Given the description of an element on the screen output the (x, y) to click on. 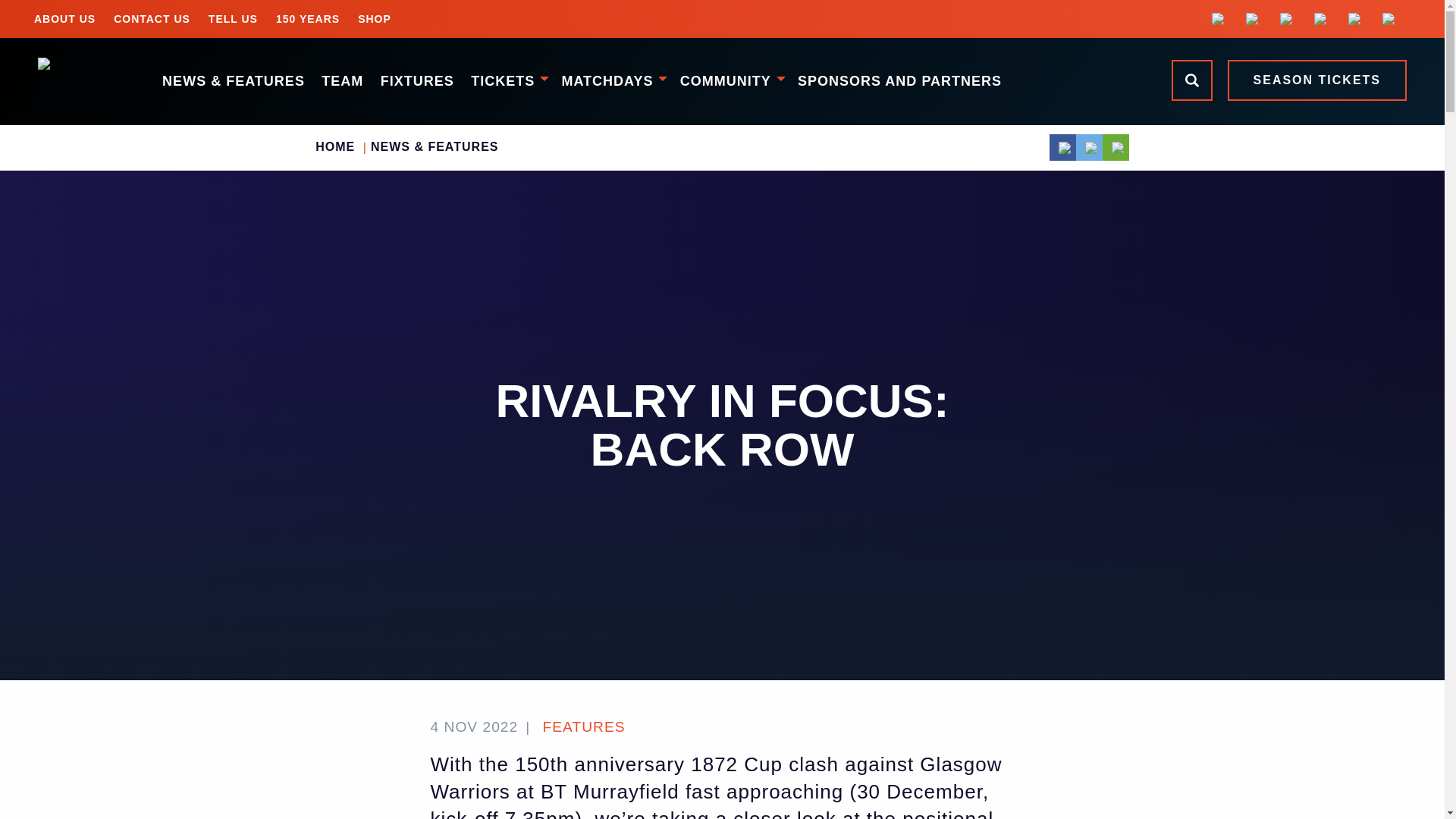
TICKETS (508, 80)
SEASON TICKETS (1316, 79)
TELL US (232, 18)
SHOP (374, 18)
ABOUT US (64, 18)
MATCHDAYS (612, 80)
FIXTURES (416, 80)
CONTACT US (151, 18)
SPONSORS AND PARTNERS (899, 80)
COMMUNITY (730, 80)
